Given the description of an element on the screen output the (x, y) to click on. 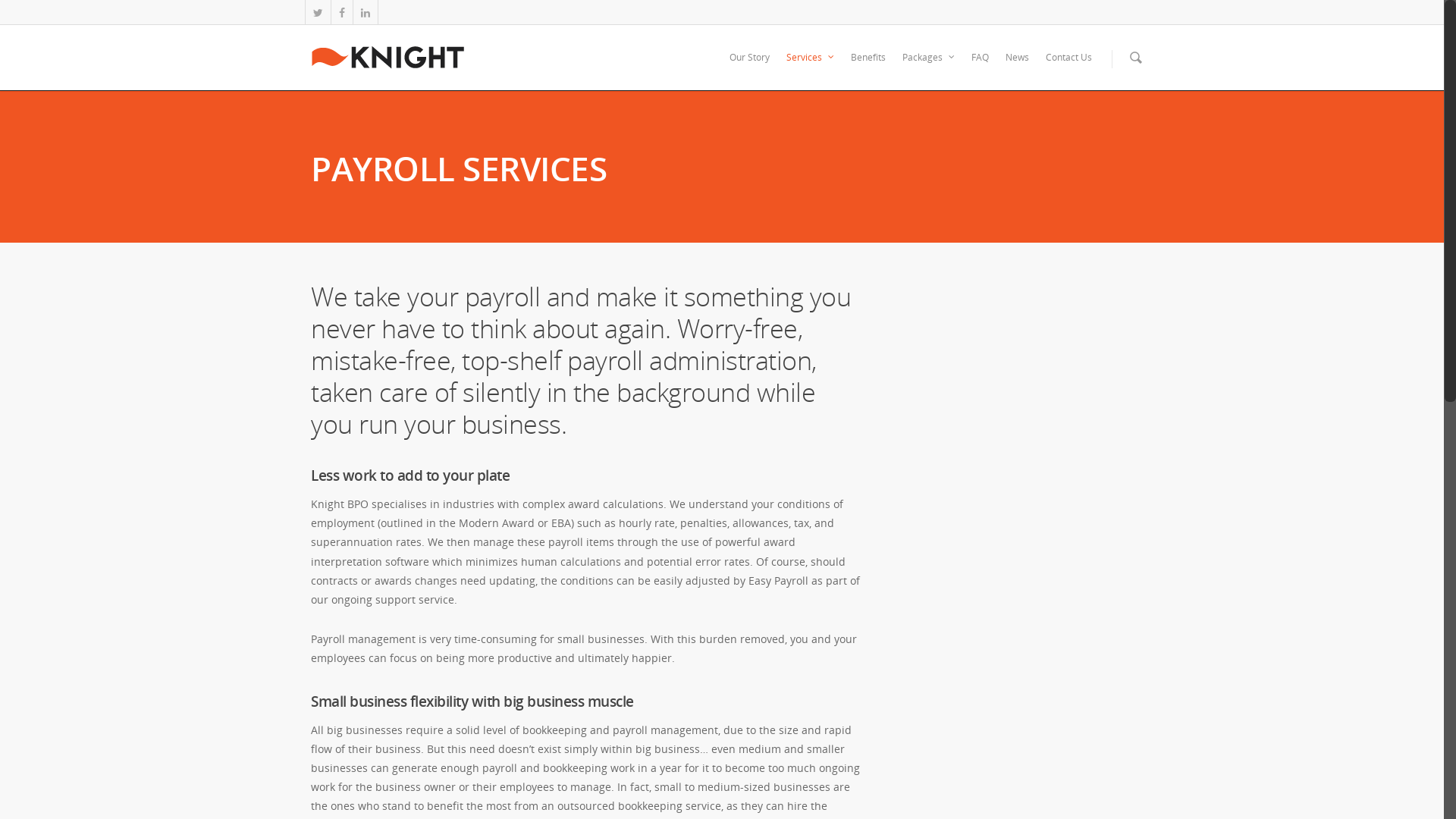
News Element type: text (1016, 68)
Services Element type: text (809, 68)
Contact Us Element type: text (1068, 68)
Our Story Element type: text (749, 68)
Benefits Element type: text (868, 68)
Packages Element type: text (928, 68)
FAQ Element type: text (979, 68)
